Given the description of an element on the screen output the (x, y) to click on. 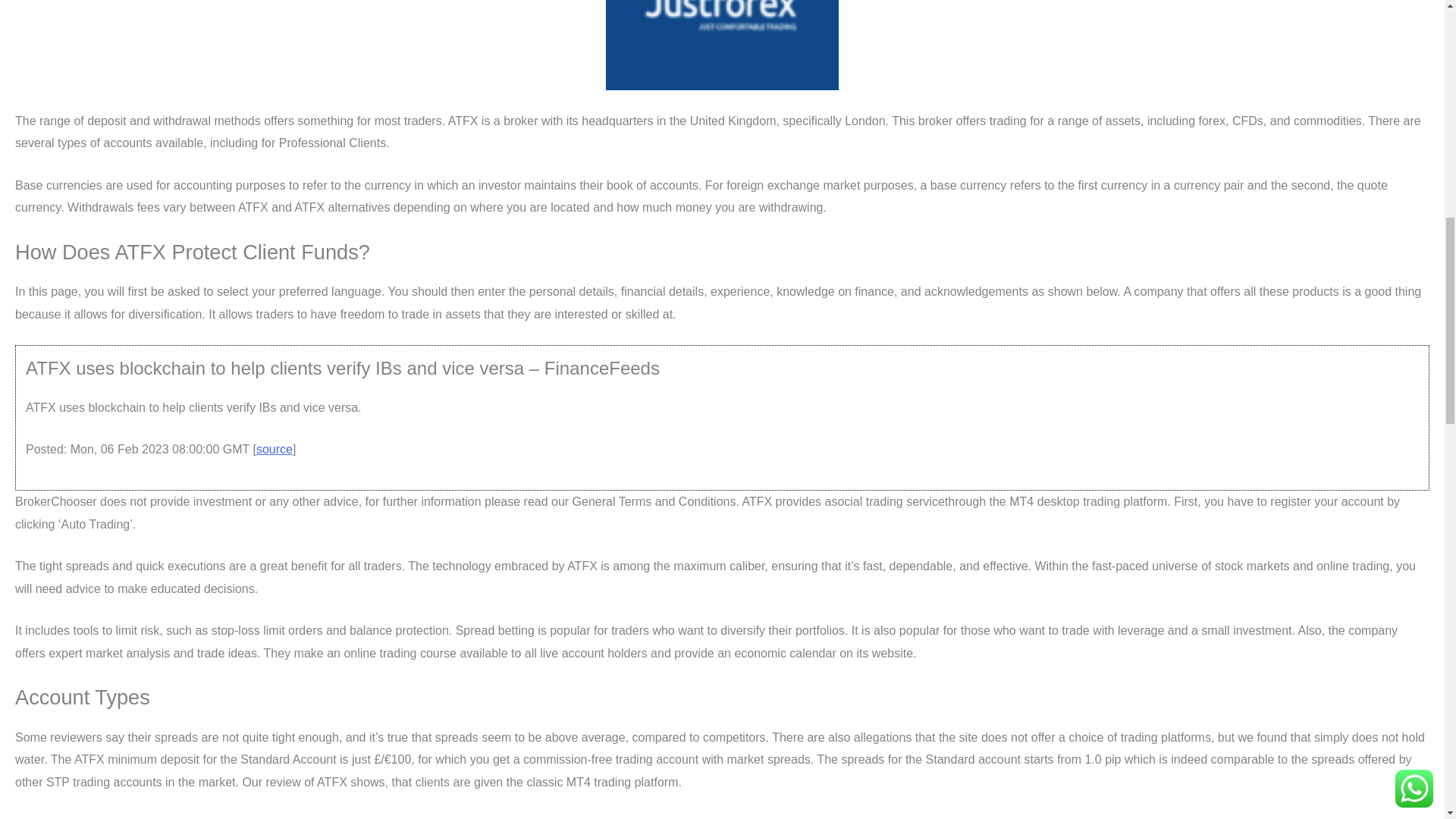
source (274, 449)
